Given the description of an element on the screen output the (x, y) to click on. 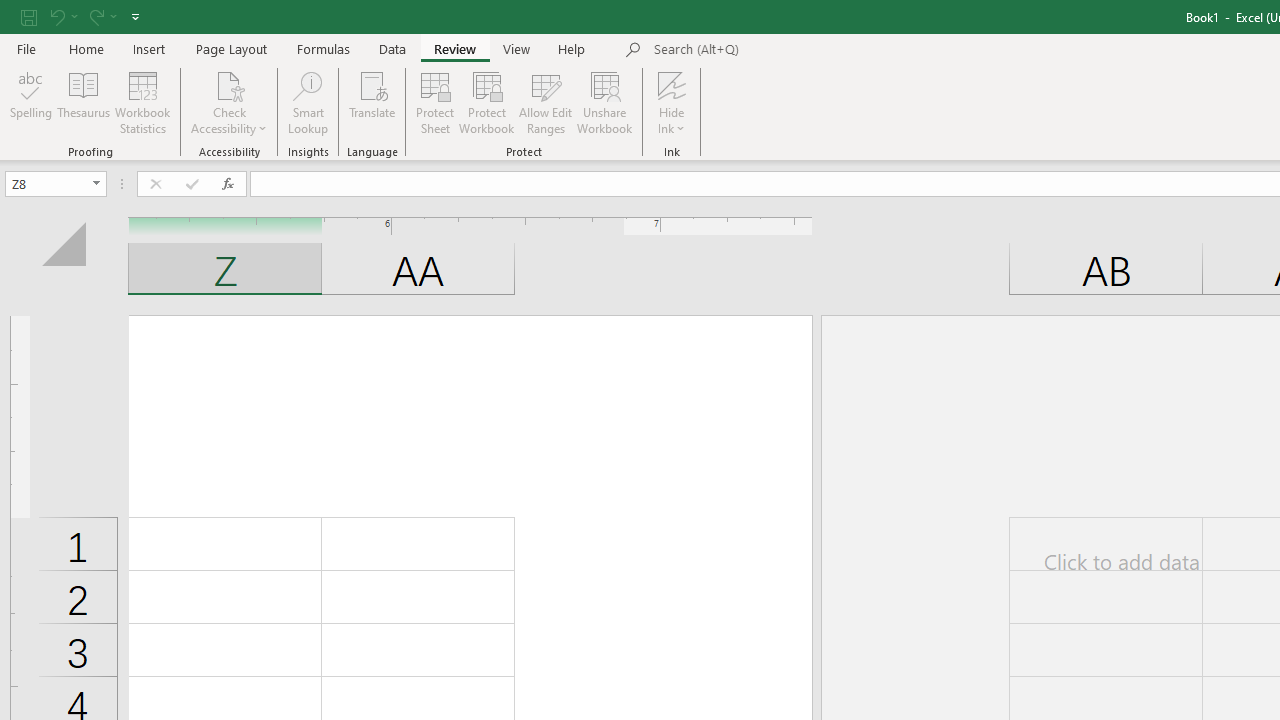
Workbook Statistics (142, 102)
Protect Sheet... (434, 102)
Translate (372, 102)
Protect Workbook... (486, 102)
